Given the description of an element on the screen output the (x, y) to click on. 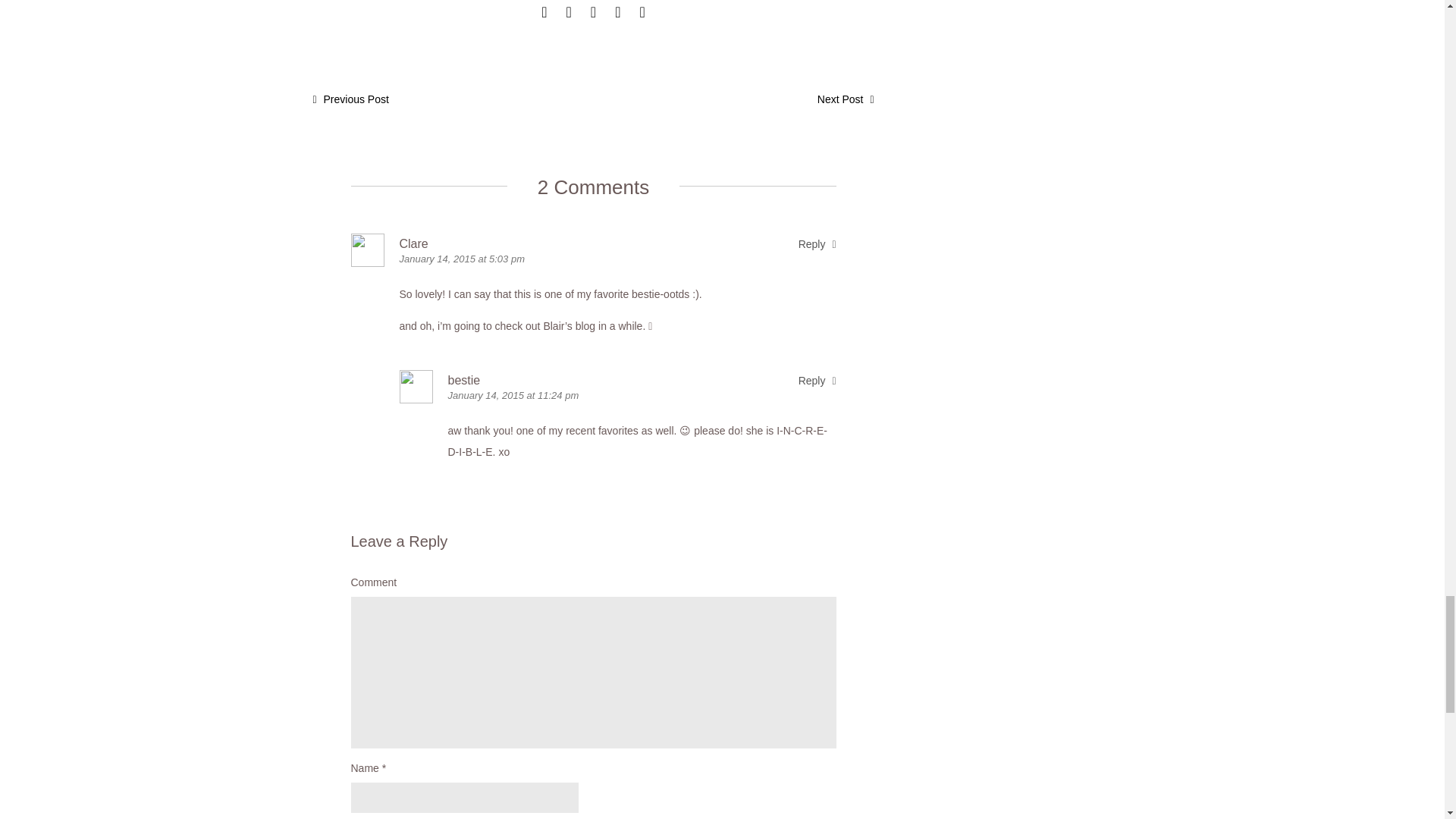
Reply (816, 244)
Reply (816, 380)
